Given the description of an element on the screen output the (x, y) to click on. 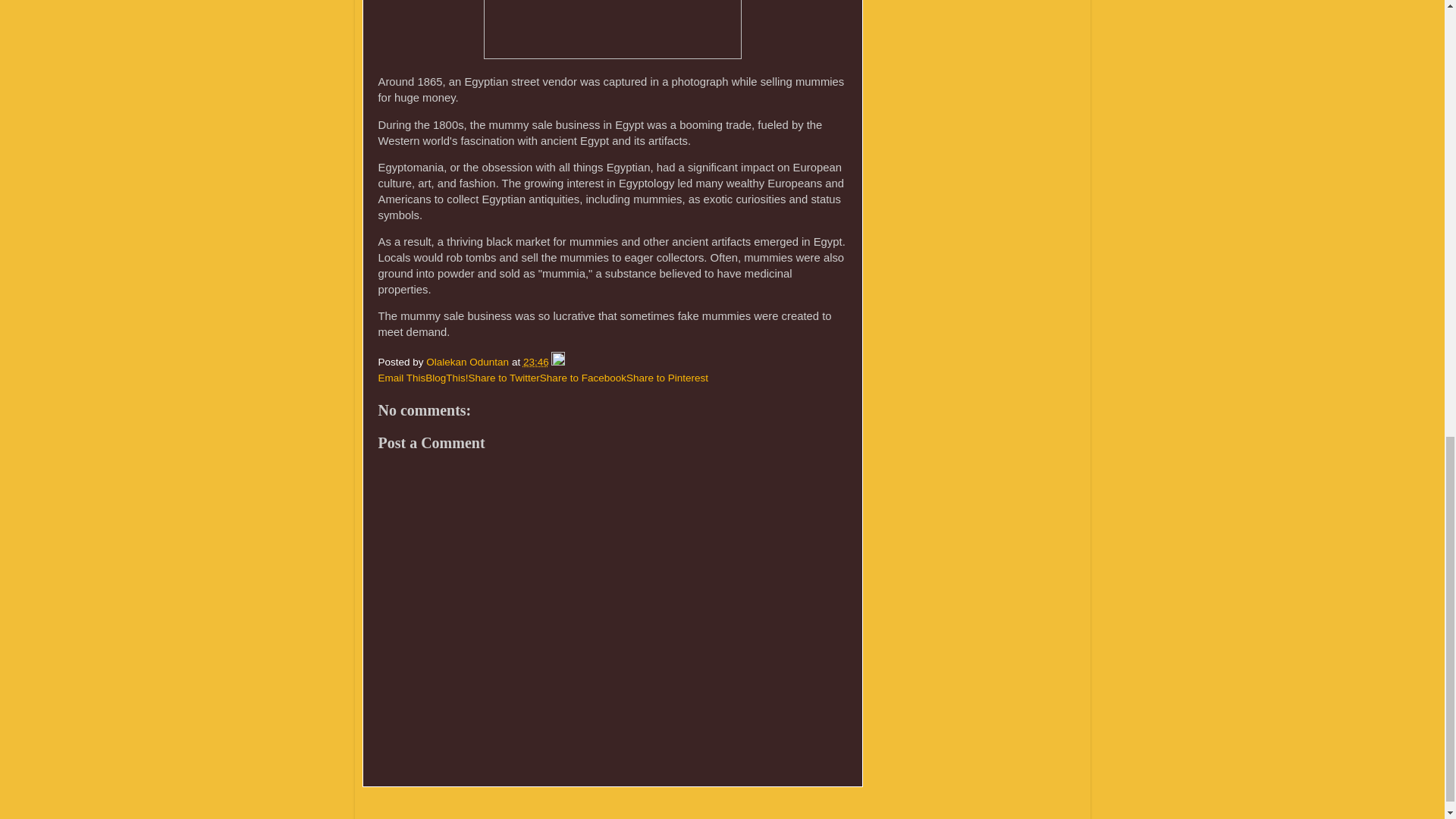
Olalekan Oduntan (469, 361)
BlogThis! (446, 378)
23:46 (535, 361)
Share to Facebook (583, 378)
author profile (469, 361)
permanent link (535, 361)
Email This (401, 378)
Share to Pinterest (666, 378)
Edit Post (557, 361)
BlogThis! (446, 378)
